Given the description of an element on the screen output the (x, y) to click on. 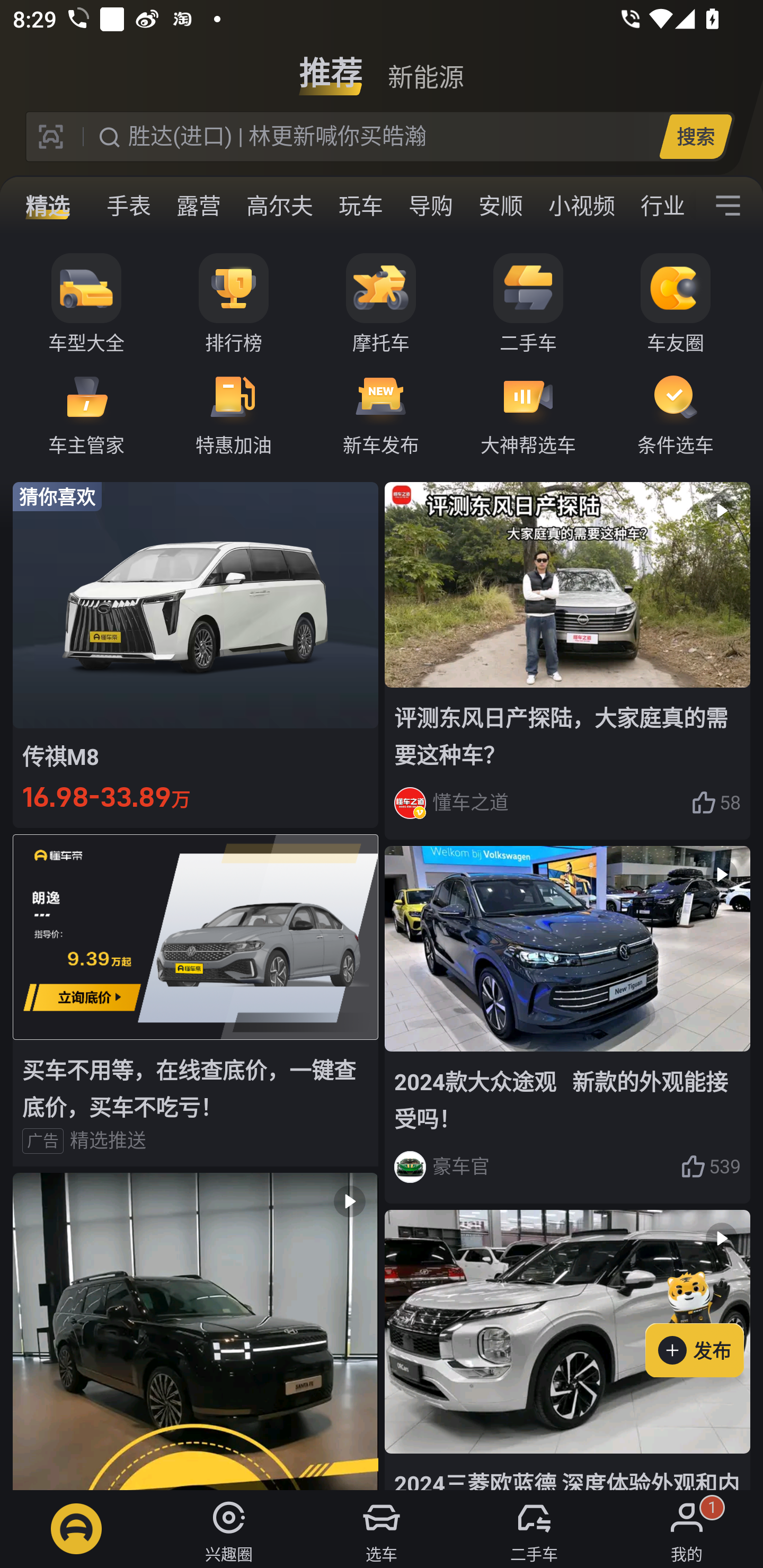
推荐 (330, 65)
新能源 (425, 65)
搜索 (695, 136)
原创 (58, 205)
手表 (128, 205)
露营 (198, 205)
高尔夫 (279, 205)
玩车 (360, 205)
导购 (430, 205)
安顺 (500, 205)
小视频 (581, 205)
行业 (661, 205)
 (727, 205)
车型大全 (86, 303)
排行榜 (233, 303)
摩托车 (380, 303)
二手车 (528, 303)
车友圈 (675, 303)
车主管家 (86, 412)
特惠加油 (233, 412)
新车发布 (380, 412)
大神帮选车 (528, 412)
条件选车 (675, 412)
猜你喜欢 传祺M8 16.98-33.89万 (195, 654)
 评测东风日产探陆，大家庭真的需要这种车？ 懂车之道 58 (567, 659)
58 (715, 802)
买车不用等，在线查底价，一键查底价，买车不吃亏！ 广告 精选推送 (195, 1000)
 2024款大众途观   新款的外观能接受吗！ 豪车官 539 (567, 1025)
539 (710, 1166)
 (195, 1330)
 2024三菱欧蓝德 深度体验外观和内饰 三菱真的要退出中国市场了？ (567, 1349)
发布 (704, 1320)
 兴趣圈 (228, 1528)
 选车 (381, 1528)
 二手车 (533, 1528)
 我的 (686, 1528)
